Given the description of an element on the screen output the (x, y) to click on. 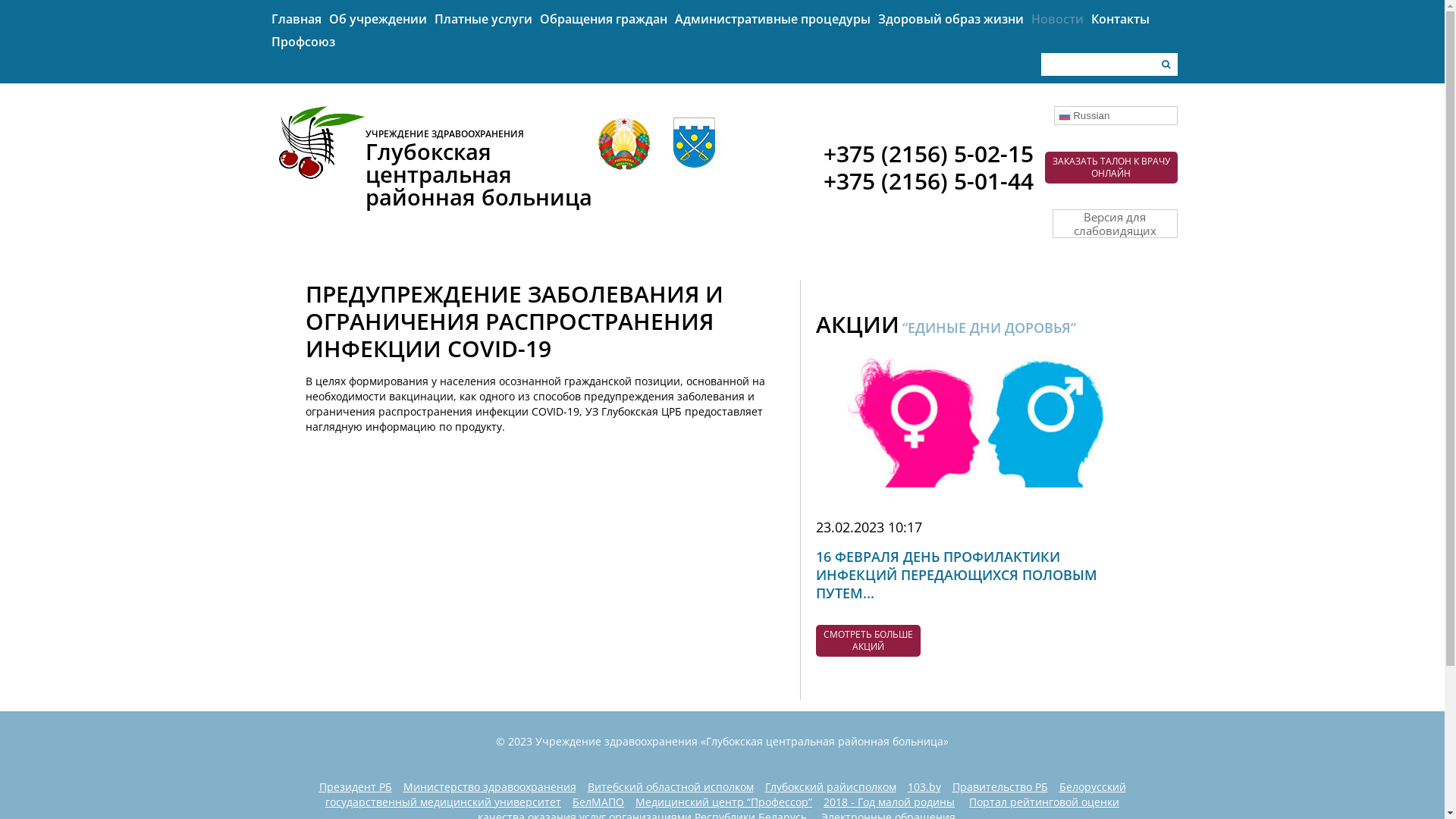
YouTube video player Element type: hover (546, 564)
Russian Element type: text (1115, 115)
103.by Element type: text (923, 786)
